Given the description of an element on the screen output the (x, y) to click on. 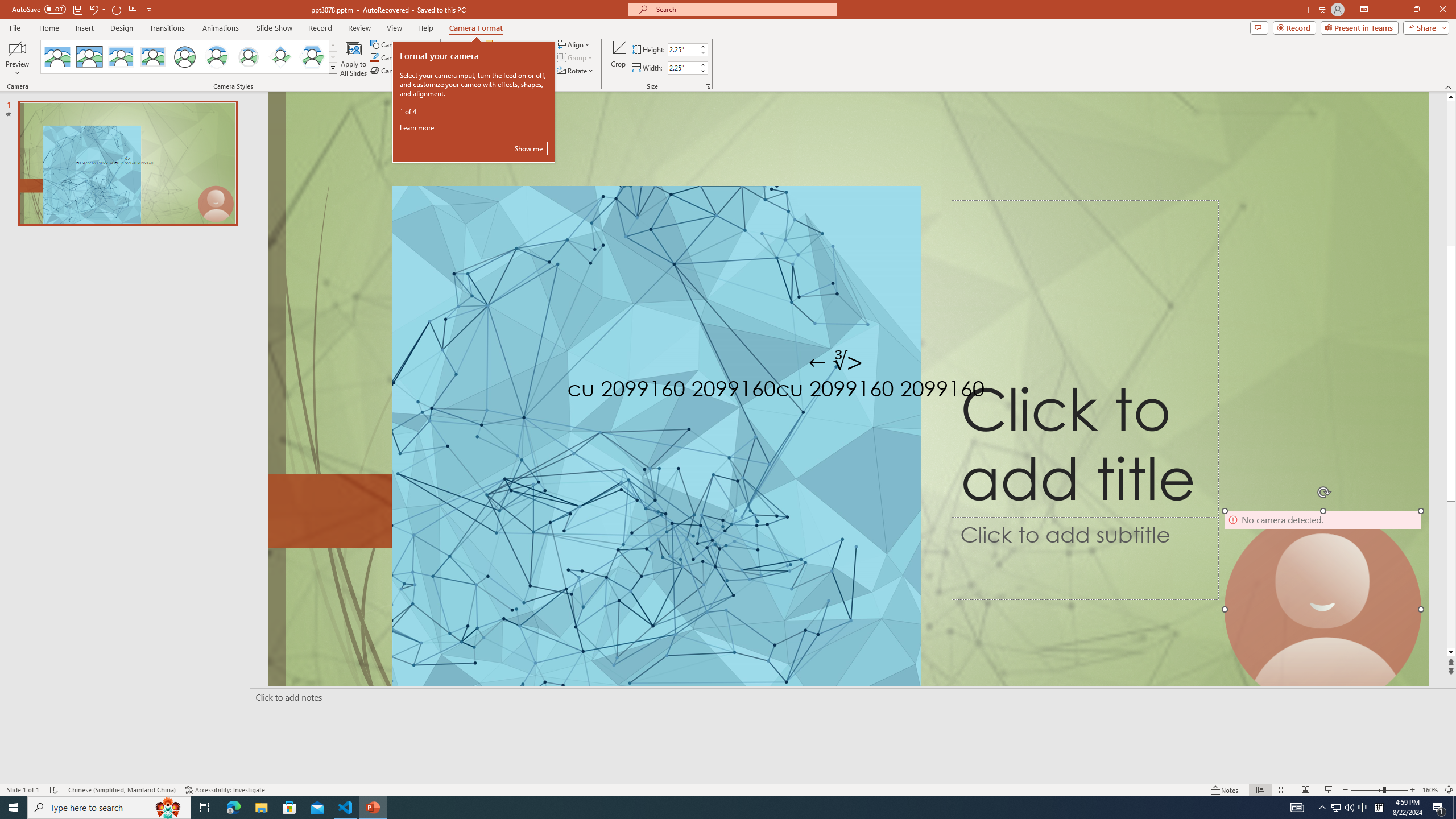
Apply to All Slides (353, 58)
Show me (528, 148)
Learn more (418, 127)
Camera Format (475, 28)
Camera Shape (400, 44)
Crop (617, 58)
